Given the description of an element on the screen output the (x, y) to click on. 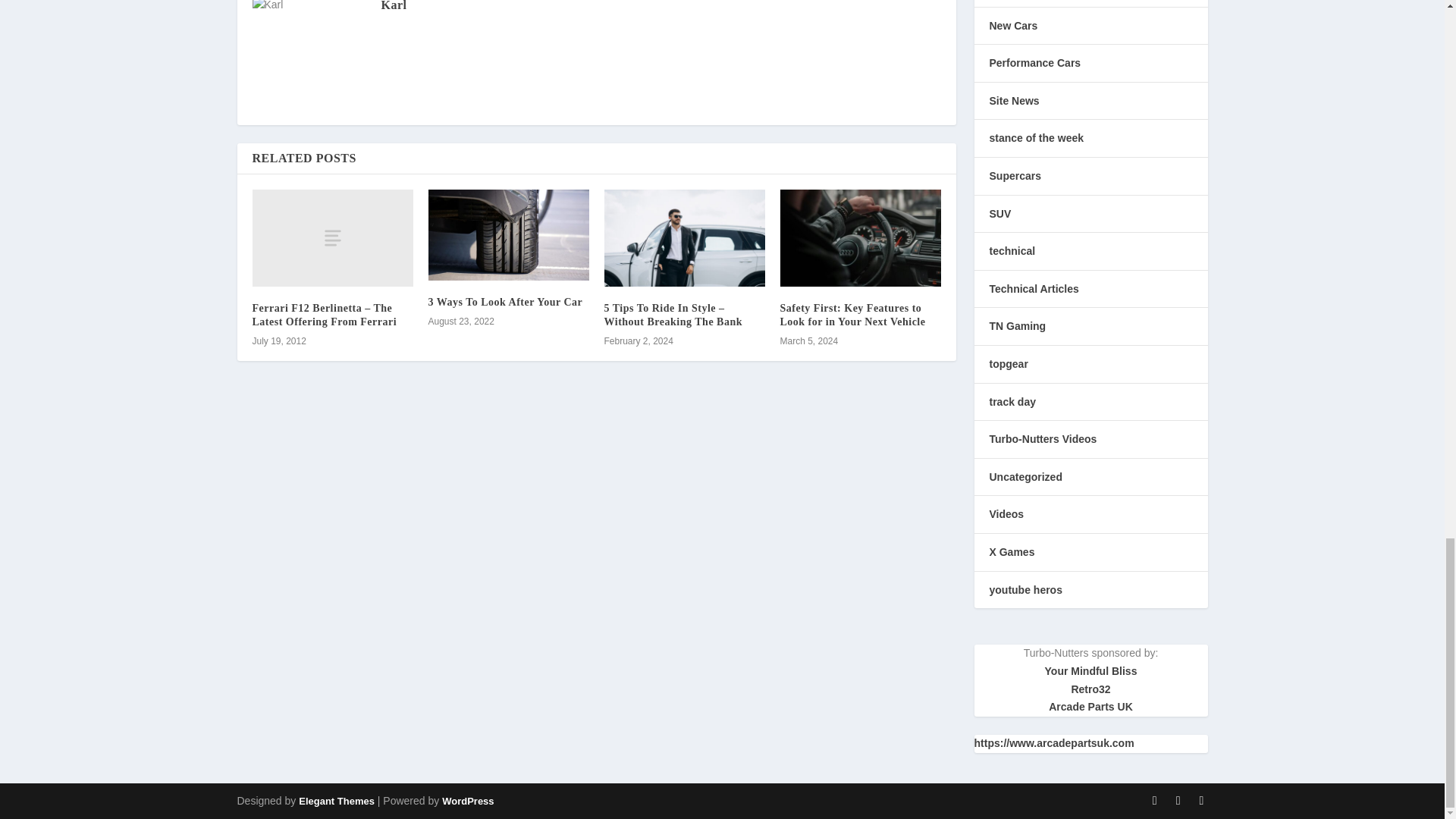
Karl (393, 5)
